Given the description of an element on the screen output the (x, y) to click on. 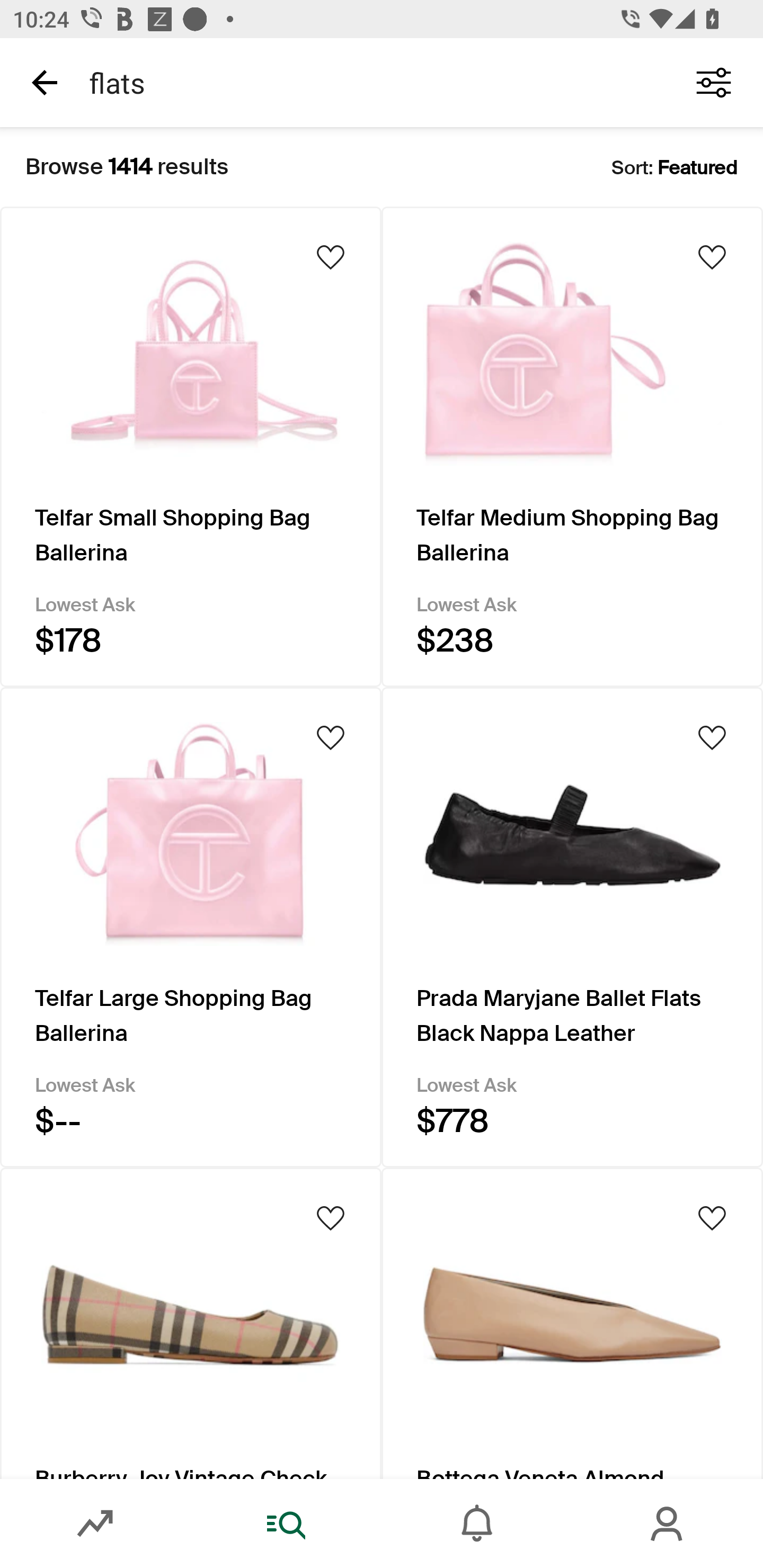
flats (370, 82)
Market (95, 1523)
Inbox (476, 1523)
Account (667, 1523)
